Given the description of an element on the screen output the (x, y) to click on. 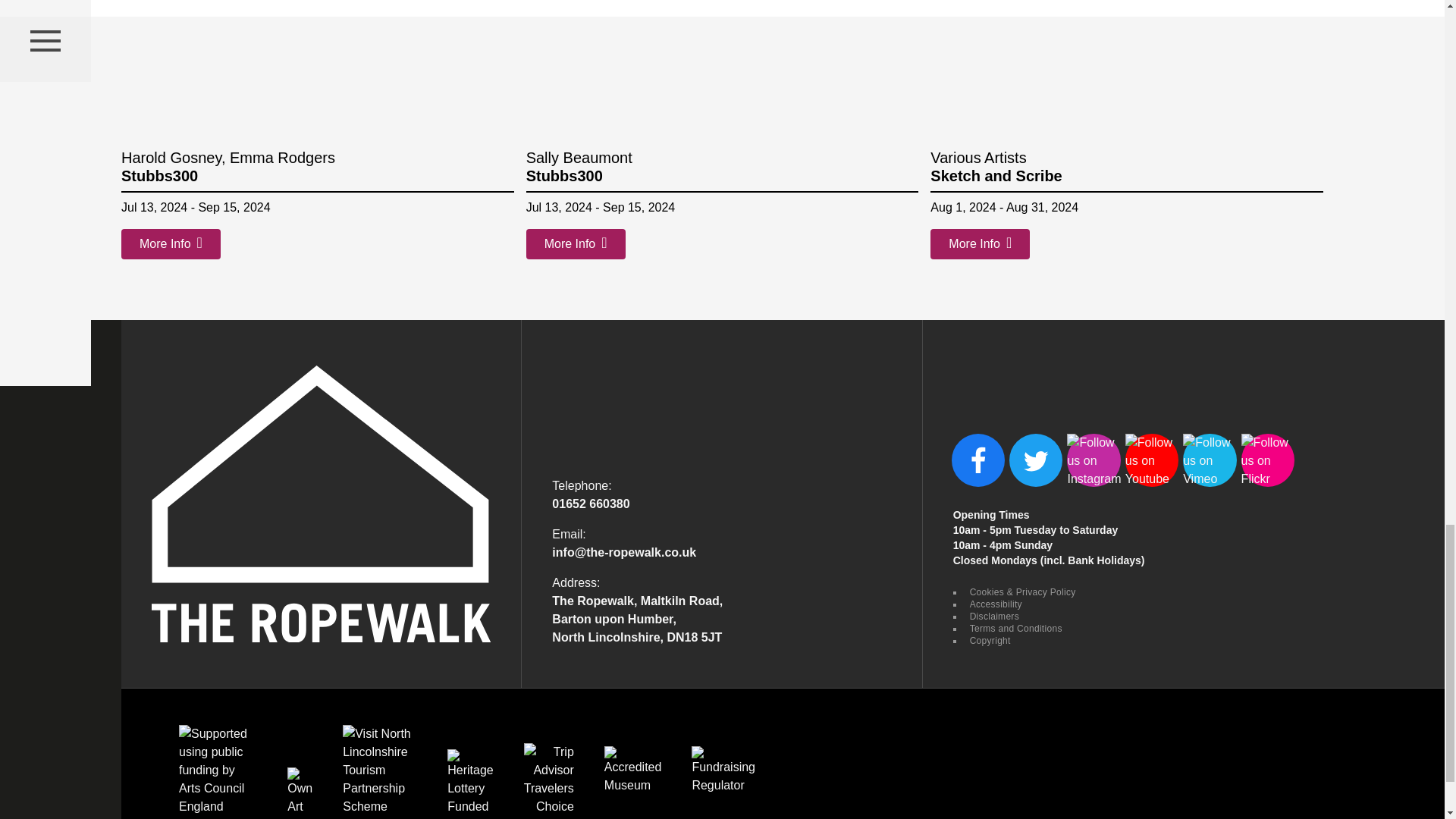
More Info (170, 244)
Disclaimers (992, 616)
Terms and Conditions (1014, 628)
Accessibility (994, 604)
More Info (575, 244)
More Info (979, 244)
Copyright (988, 640)
